Given the description of an element on the screen output the (x, y) to click on. 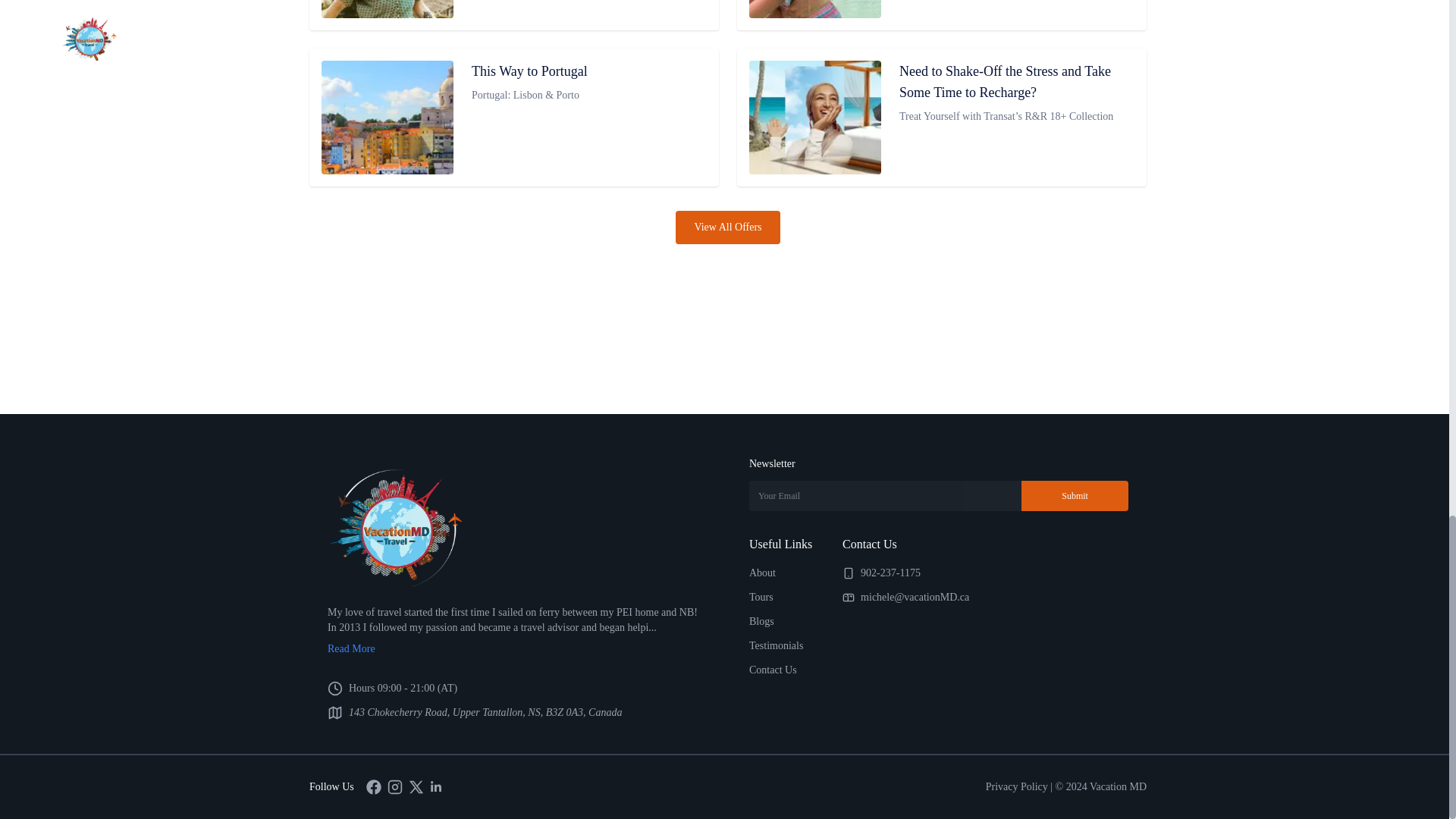
Blogs (761, 621)
View All Offers (726, 227)
Testimonials (776, 645)
Tours (761, 596)
Submit (1075, 495)
Contact Us (772, 669)
About (762, 572)
